Given the description of an element on the screen output the (x, y) to click on. 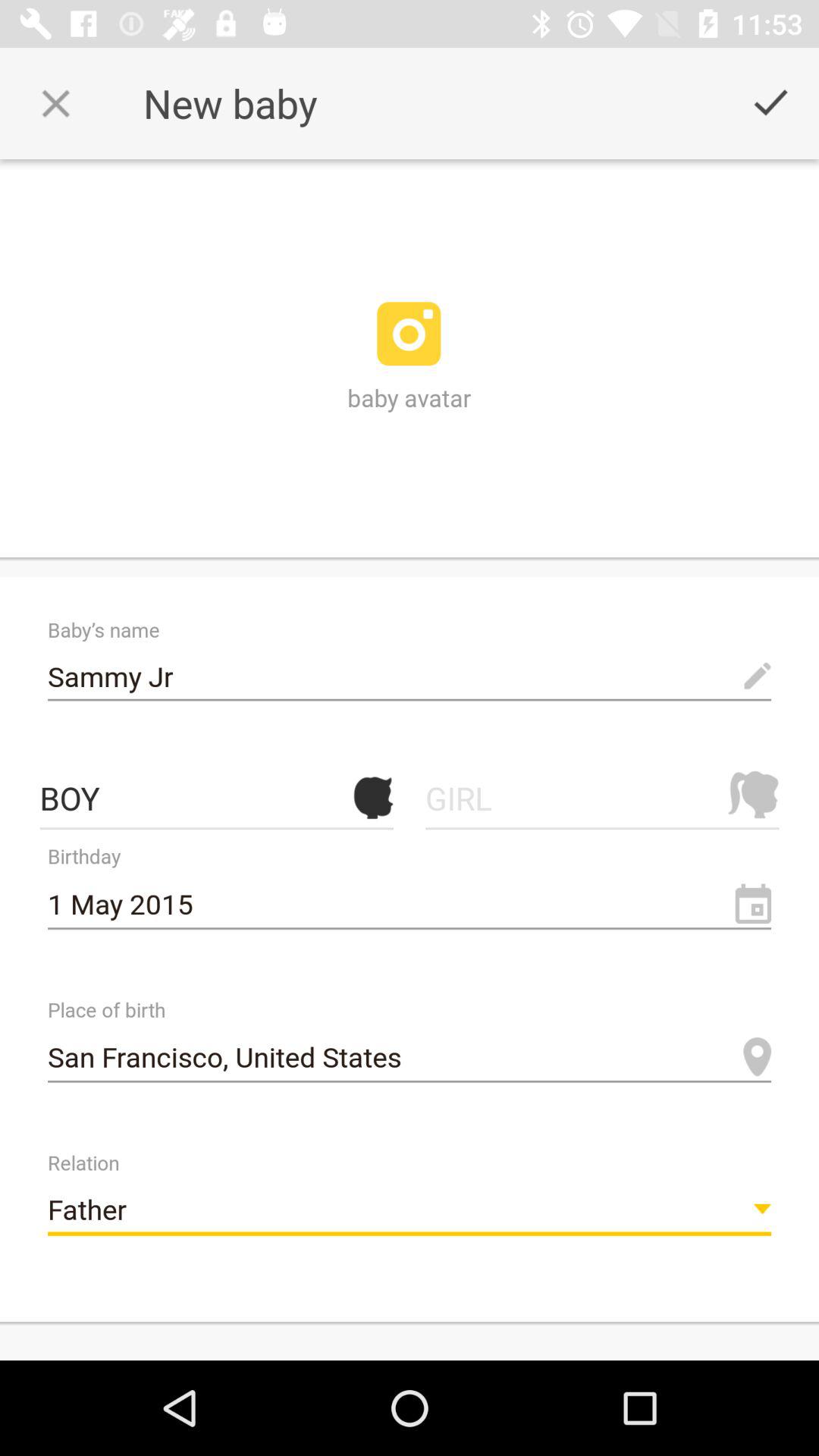
cancel search query (55, 103)
